Given the description of an element on the screen output the (x, y) to click on. 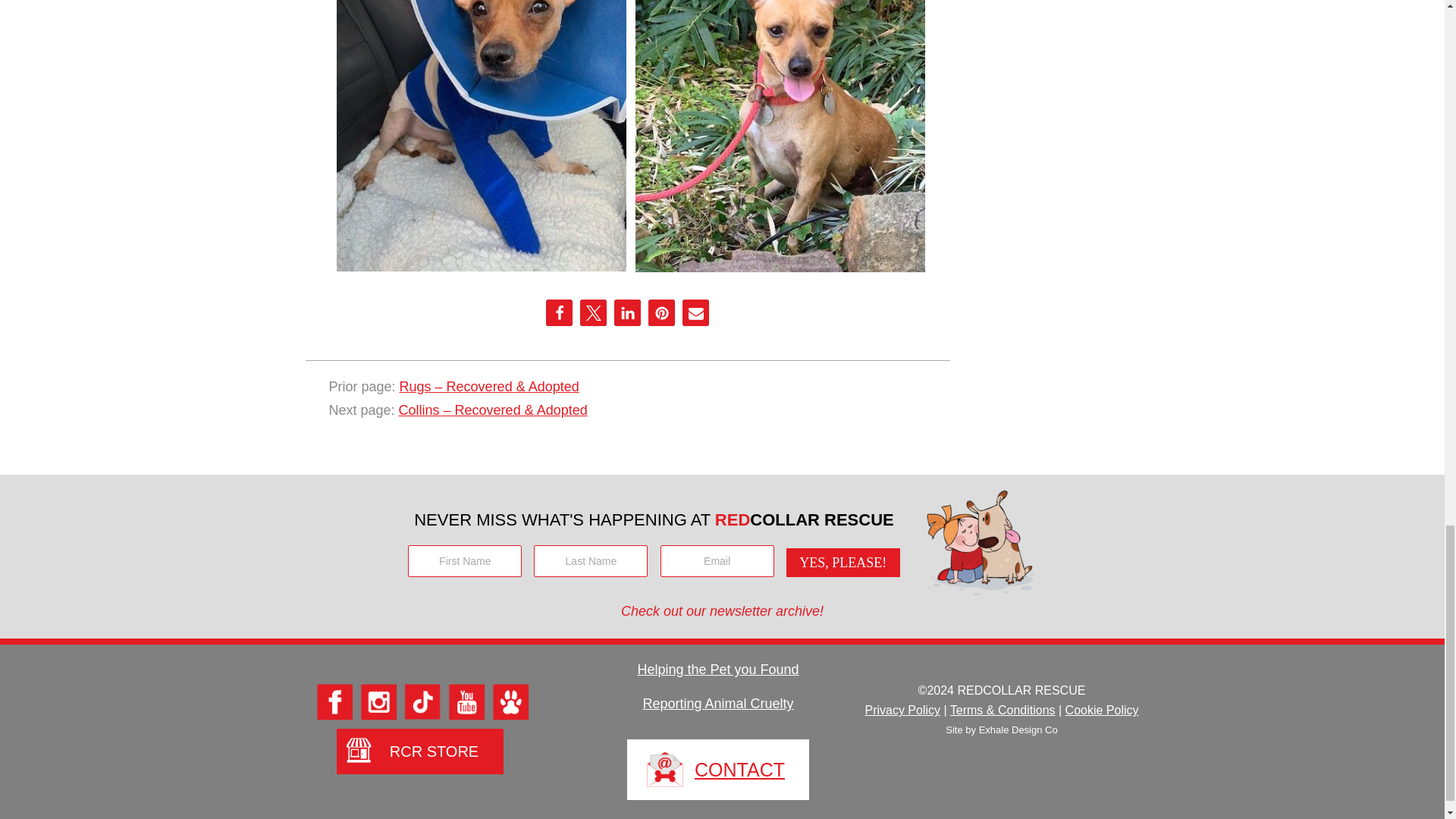
Share on X (593, 312)
Send by email (695, 312)
RCR STORE (419, 746)
Yes, please! (842, 562)
Pin it on Pinterest (661, 312)
Check out our newsletter archive! (722, 611)
Share on LinkedIn (627, 312)
Share on Facebook (559, 312)
Yes, please! (842, 562)
